Given the description of an element on the screen output the (x, y) to click on. 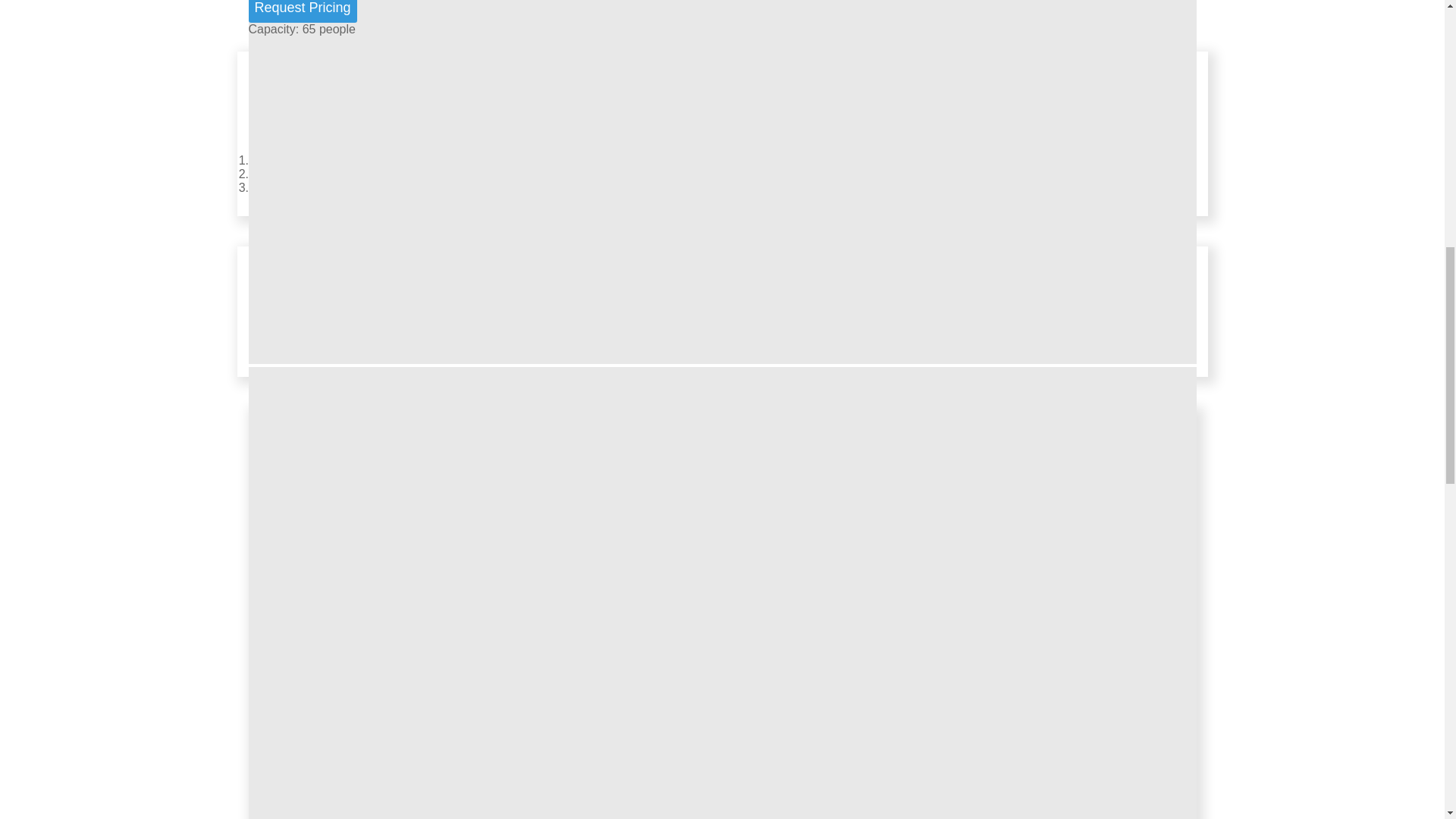
Website (273, 160)
Write A Recommendation (319, 187)
Request Pricing (302, 11)
Facebook (277, 173)
Request Pricing (302, 11)
